Given the description of an element on the screen output the (x, y) to click on. 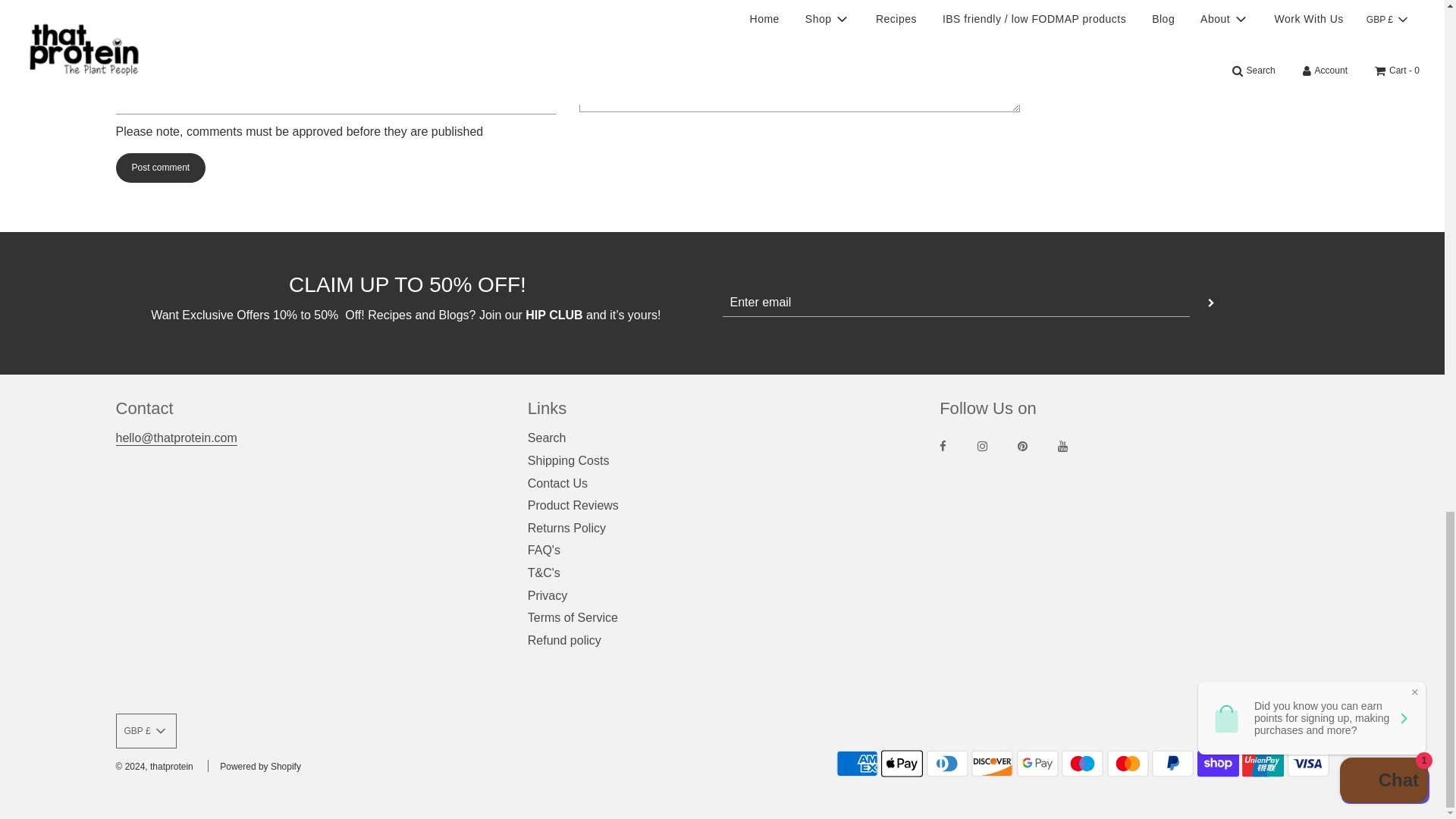
Mastercard (1127, 763)
PayPal (1172, 763)
Post comment (160, 167)
Diners Club (947, 763)
American Express (856, 763)
Maestro (1082, 763)
Union Pay (1262, 763)
Visa (1308, 763)
Apple Pay (901, 763)
Shop Pay (1217, 763)
